Given the description of an element on the screen output the (x, y) to click on. 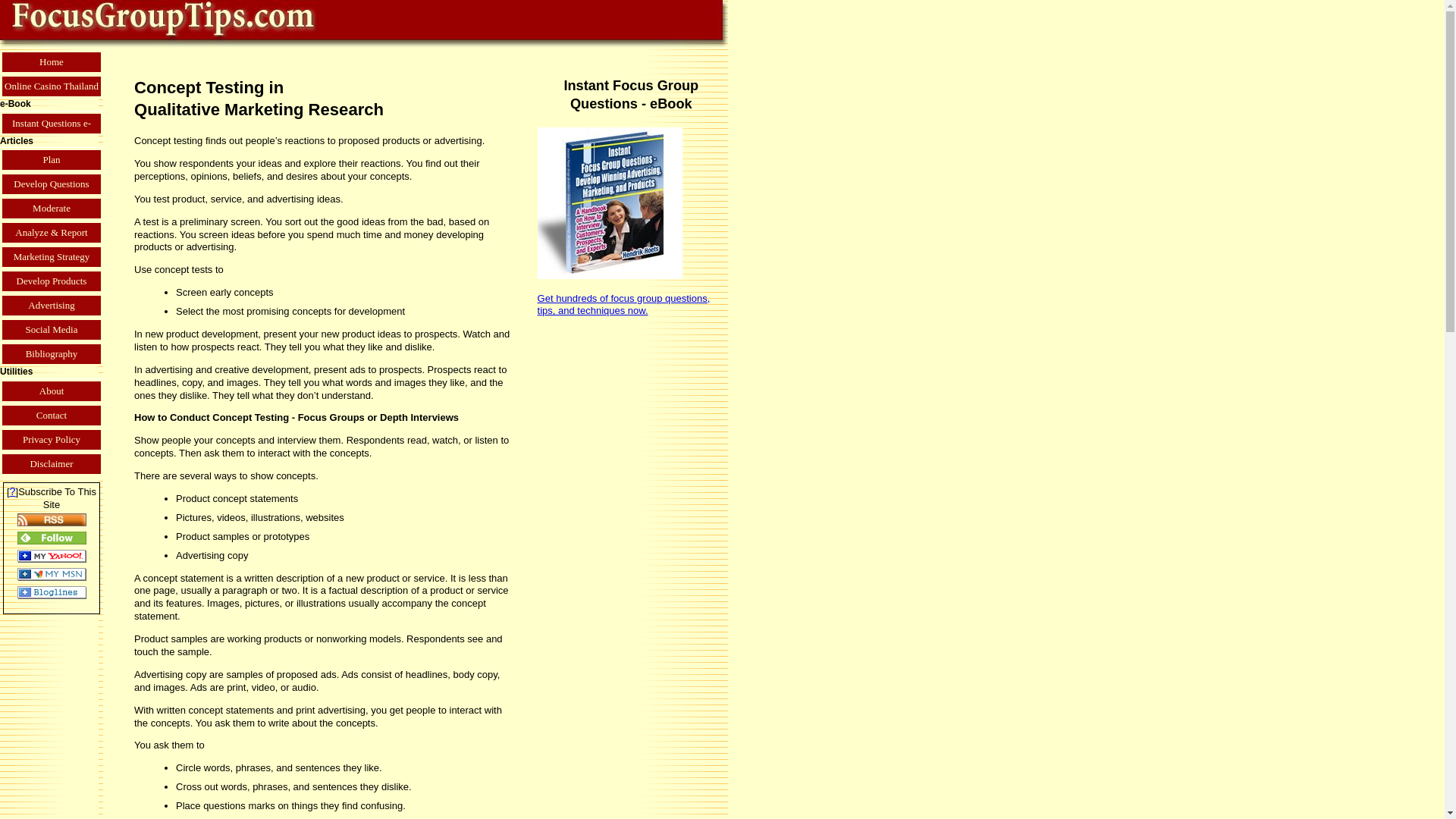
Develop Products (51, 281)
Bibliography (51, 354)
Develop Questions (51, 183)
Marketing Strategy (51, 256)
Instant Focus Group Questions - eBook (609, 203)
Social Media (51, 329)
Disclaimer (51, 463)
Home (51, 61)
Moderate (51, 208)
Online Casino Thailand (51, 86)
